Given the description of an element on the screen output the (x, y) to click on. 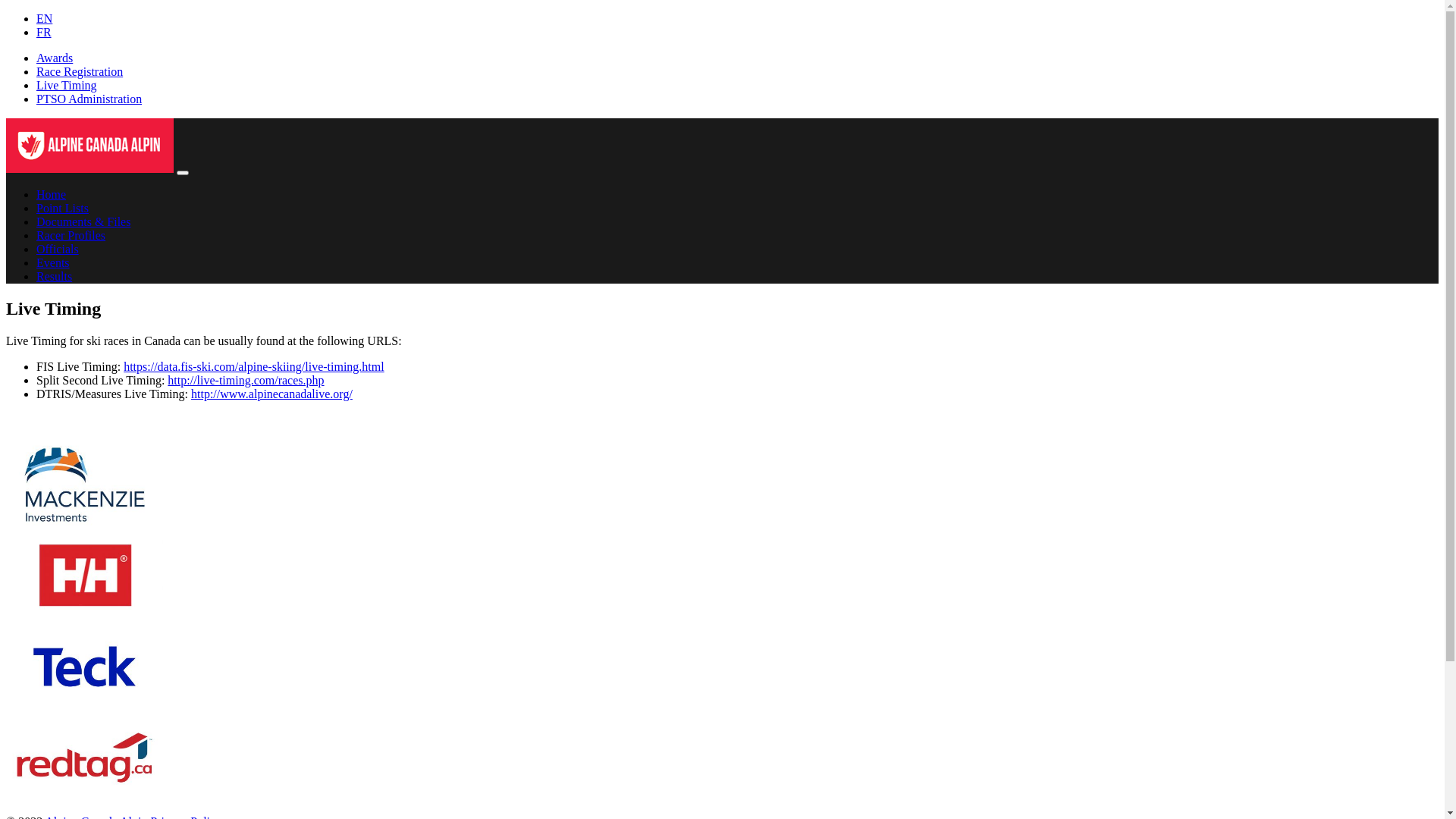
http://www.alpinecanadalive.org/ Element type: text (271, 393)
Officials Element type: text (57, 248)
http://live-timing.com/races.php Element type: text (245, 379)
https://data.fis-ski.com/alpine-skiing/live-timing.html Element type: text (253, 366)
EN Element type: text (44, 18)
Point Lists Element type: text (62, 207)
Awards Element type: text (54, 57)
Race Registration Element type: text (79, 71)
Events Element type: text (52, 262)
PTSO Administration Element type: text (88, 98)
Home Element type: text (50, 194)
Documents & Files Element type: text (83, 221)
Live Timing Element type: text (66, 84)
Racer Profiles Element type: text (70, 235)
FR Element type: text (43, 31)
Results Element type: text (54, 275)
